Given the description of an element on the screen output the (x, y) to click on. 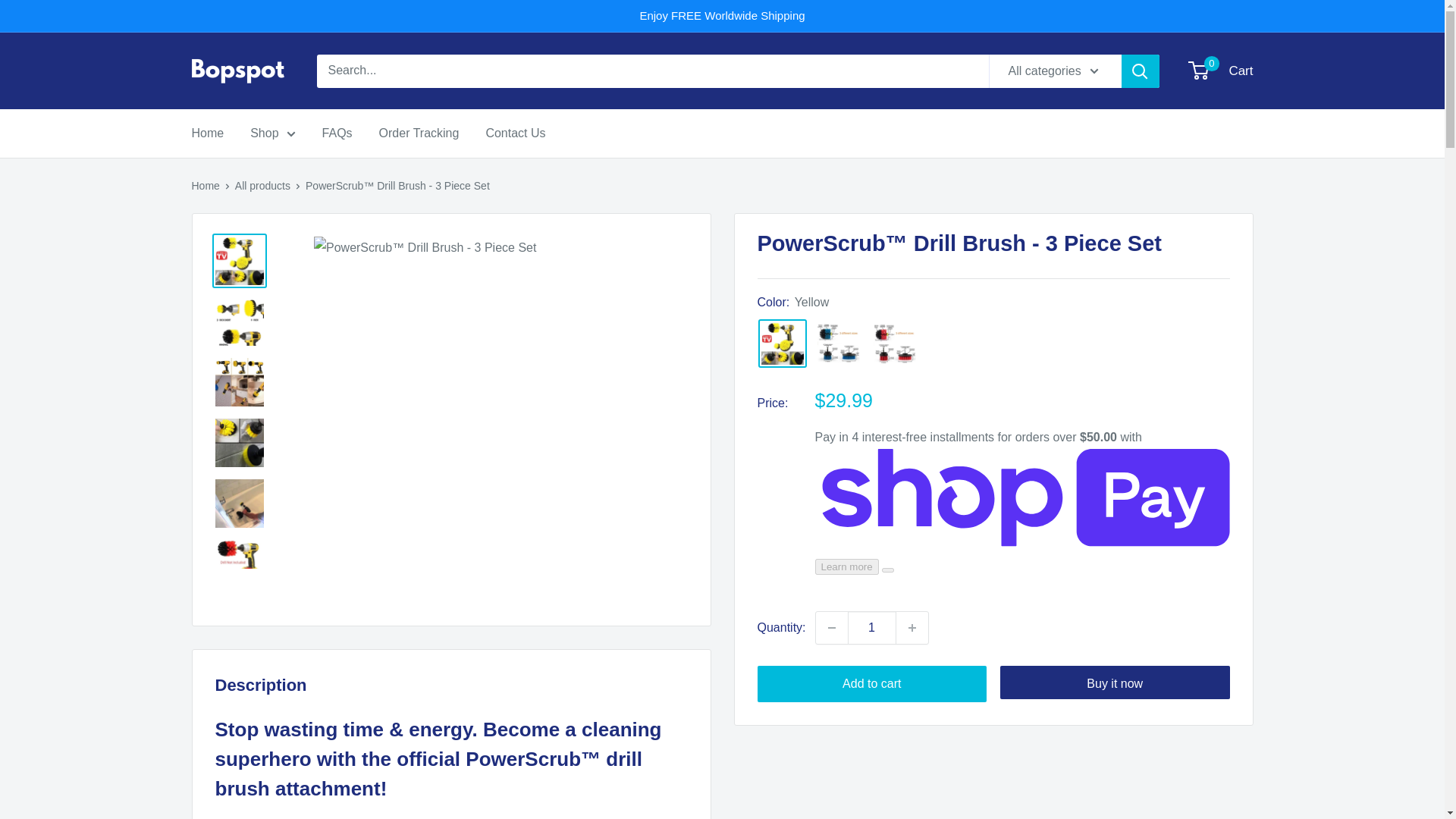
All products (261, 185)
Contact Us (1221, 70)
FAQs (514, 133)
Bopspot (336, 133)
1 (237, 70)
Decrease quantity by 1 (871, 627)
Blue (831, 627)
Shop (838, 342)
Increase quantity by 1 (272, 133)
